Given the description of an element on the screen output the (x, y) to click on. 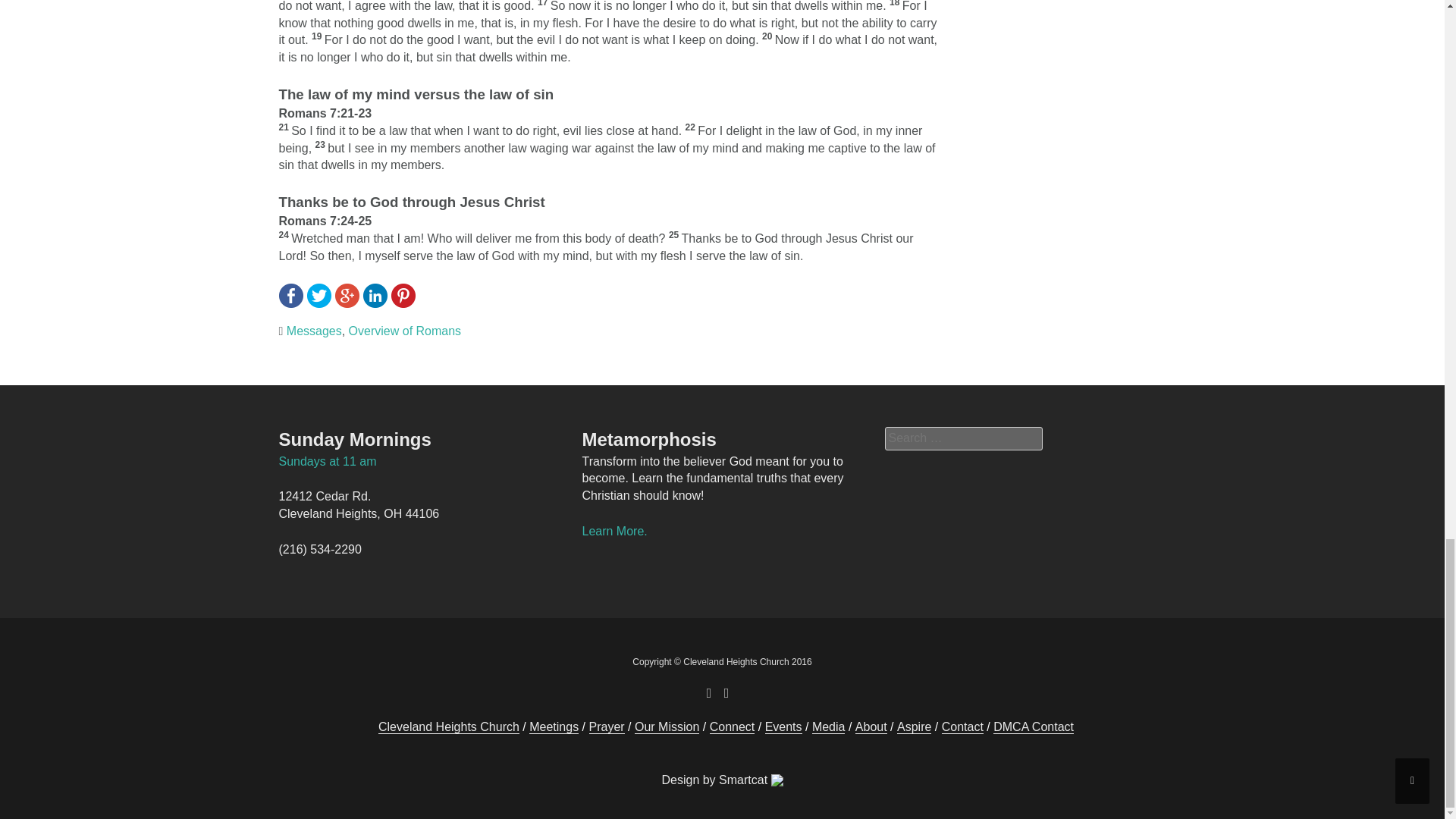
Messages (314, 330)
Sundays at 11 am (328, 461)
Overview of Romans (405, 330)
